Given the description of an element on the screen output the (x, y) to click on. 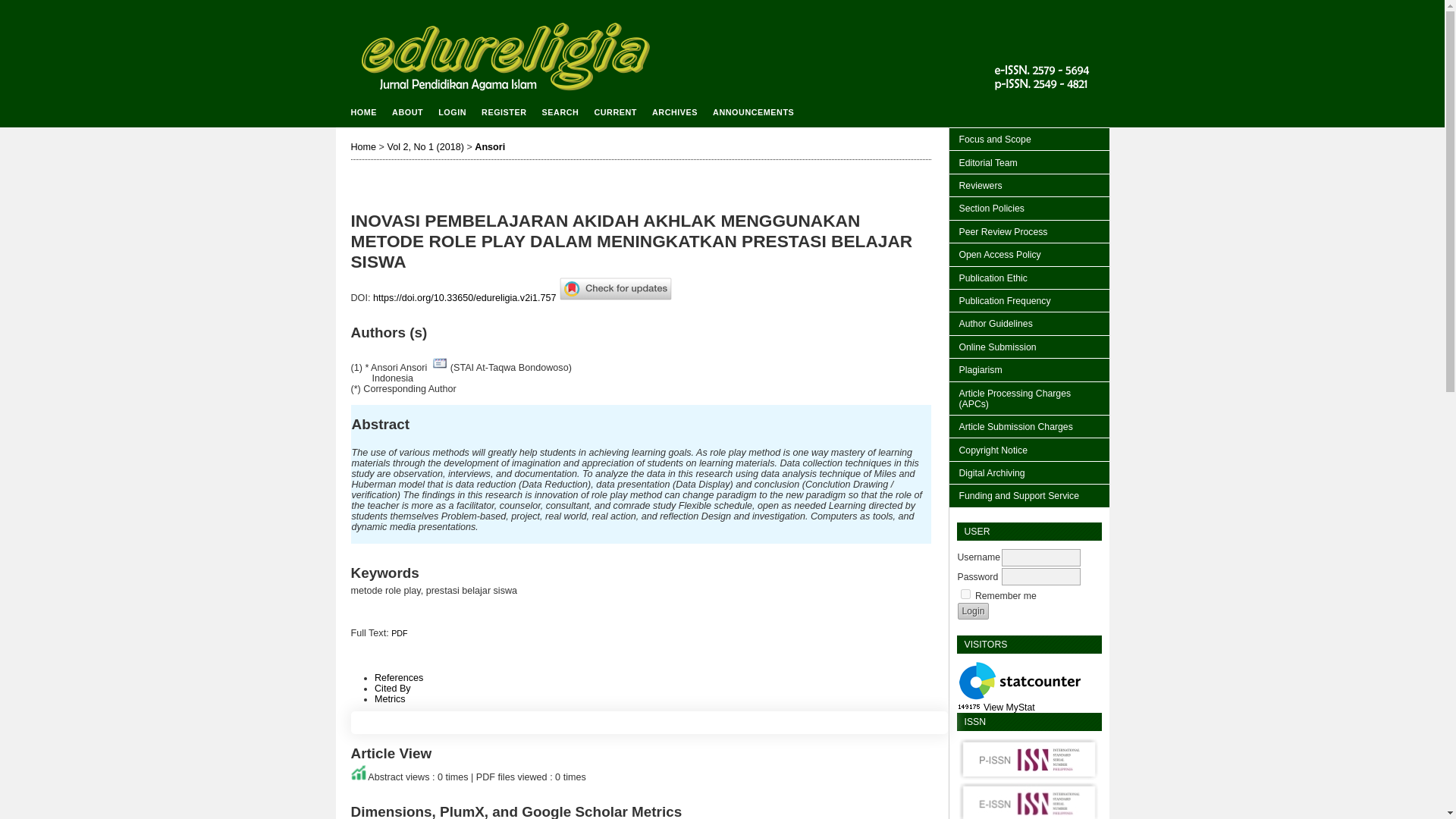
Login (972, 610)
Article Submission Charges (1029, 425)
Editorial Team (1029, 160)
Copyright Notice (1029, 448)
Open Access Policy (1029, 253)
Online Submission (1029, 345)
Publication Ethic (1029, 277)
Peer Review Process (1029, 231)
Plagiarism (1029, 368)
Section Policies (1029, 207)
